Given the description of an element on the screen output the (x, y) to click on. 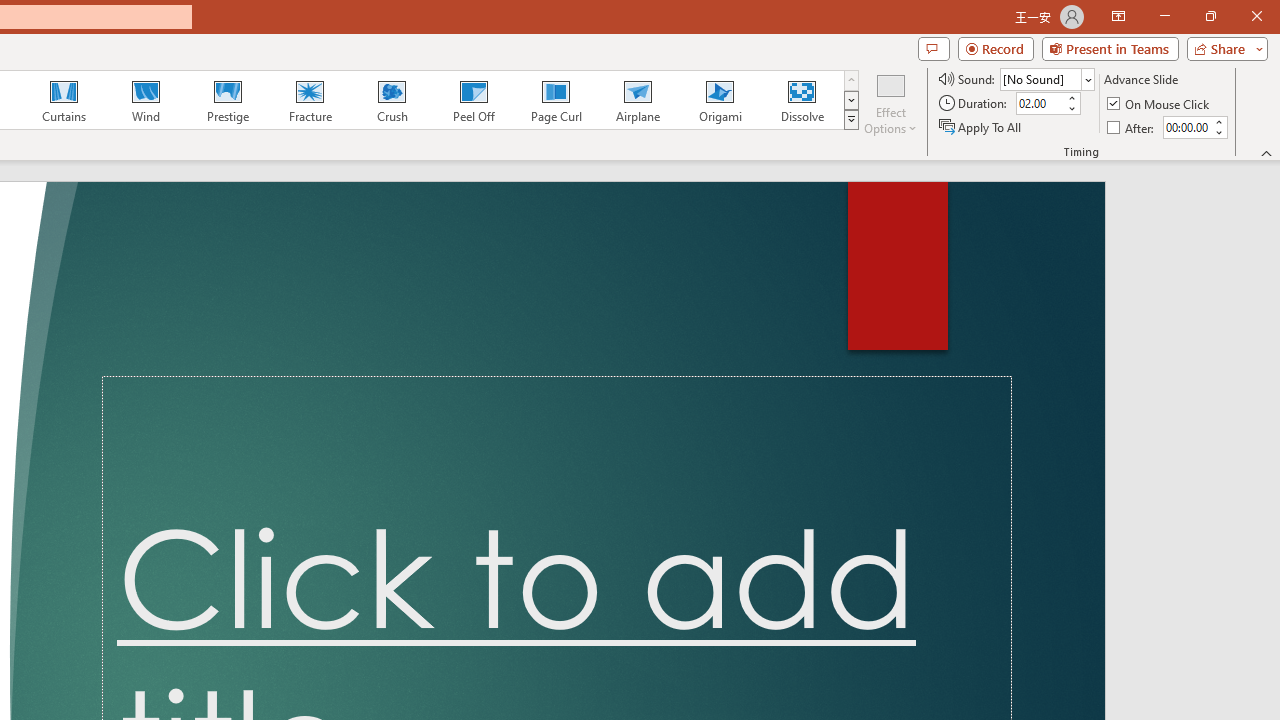
On Mouse Click (1159, 103)
Page Curl (555, 100)
Transition Effects (850, 120)
Prestige (227, 100)
Apply To All (981, 126)
Sound (1046, 78)
